Given the description of an element on the screen output the (x, y) to click on. 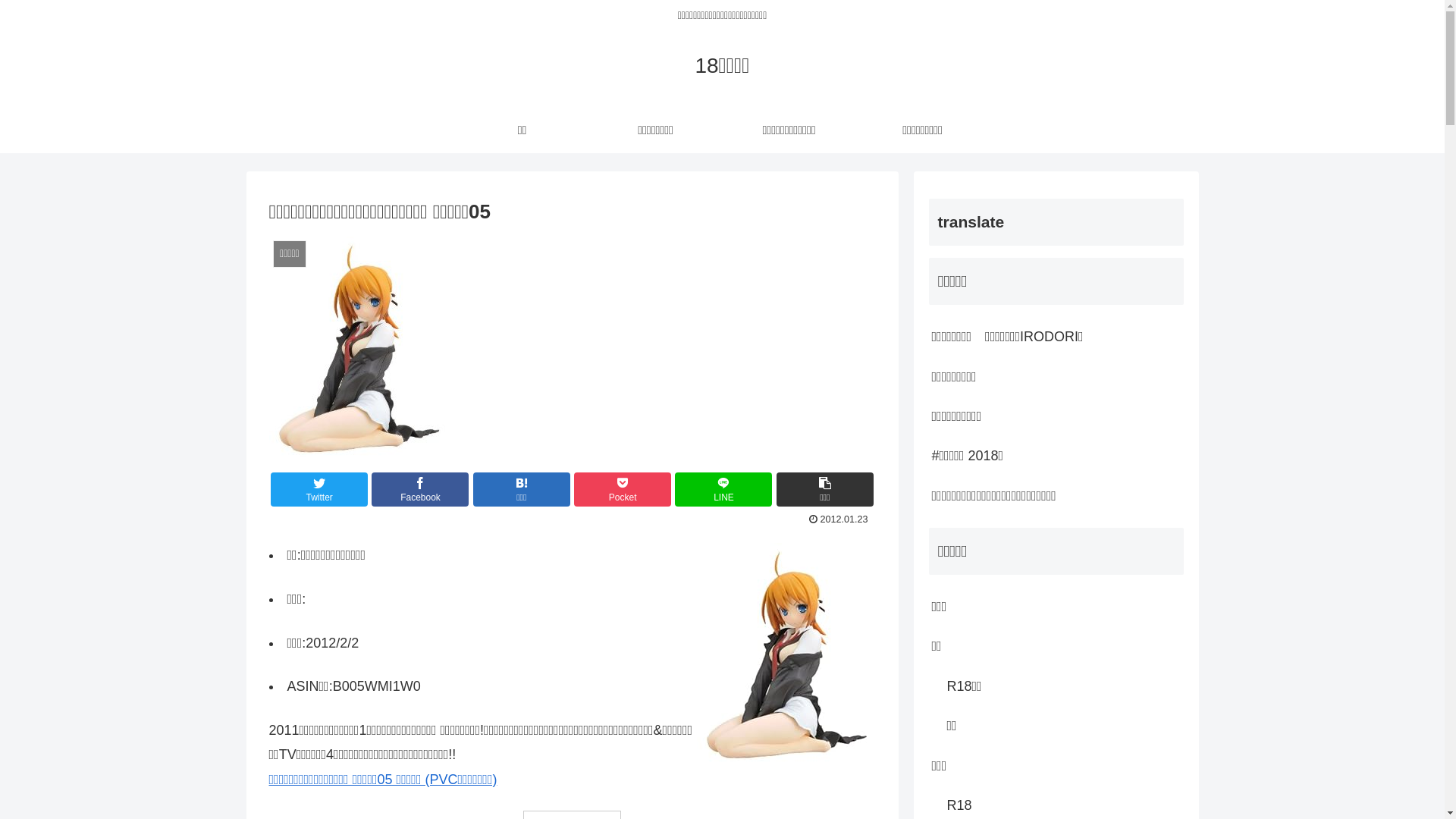
LINE Element type: text (722, 489)
Pocket Element type: text (622, 489)
Twitter Element type: text (318, 489)
Facebook Element type: text (419, 489)
